Given the description of an element on the screen output the (x, y) to click on. 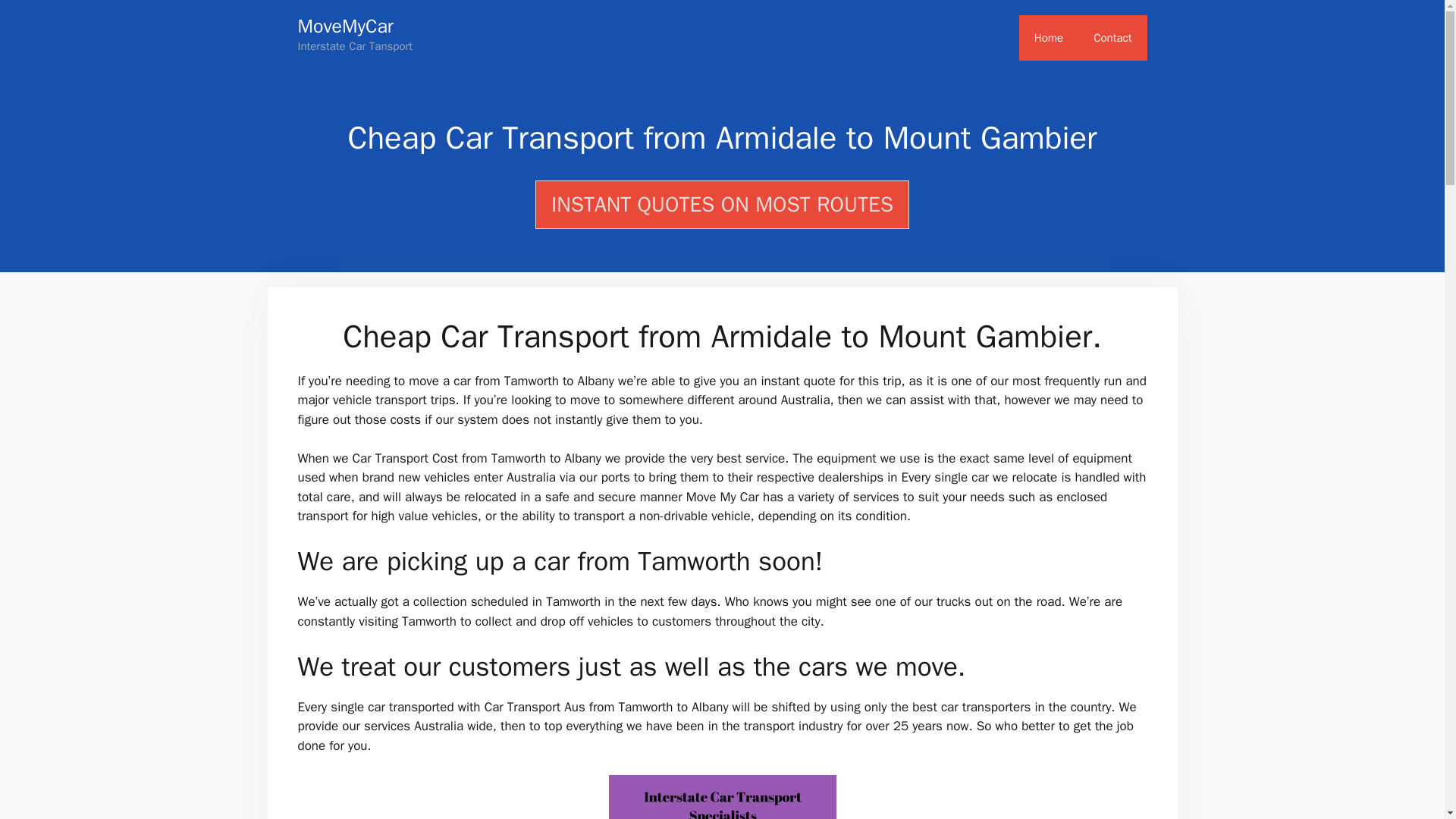
Home (1048, 37)
Contact (1112, 37)
MoveMyCar (345, 25)
INSTANT QUOTES ON MOST ROUTES (721, 204)
